Given the description of an element on the screen output the (x, y) to click on. 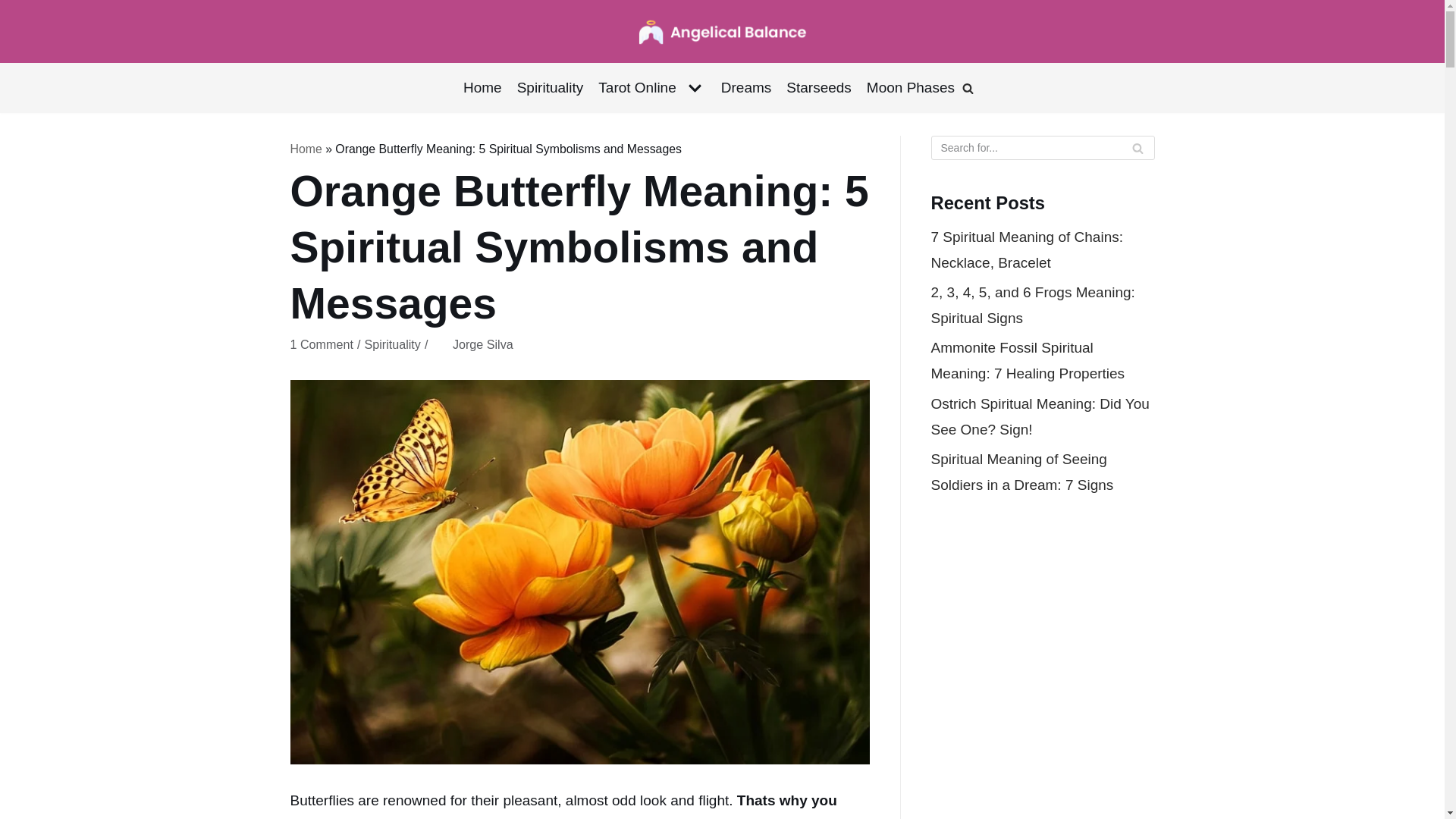
Posts by Jorge Silva (482, 344)
Starseeds (818, 87)
Spirituality (549, 87)
Skip to content (15, 7)
Home (482, 87)
Tarot Online (651, 87)
Angelical Balance (721, 31)
Moon Phases (910, 87)
Dreams (745, 87)
